Given the description of an element on the screen output the (x, y) to click on. 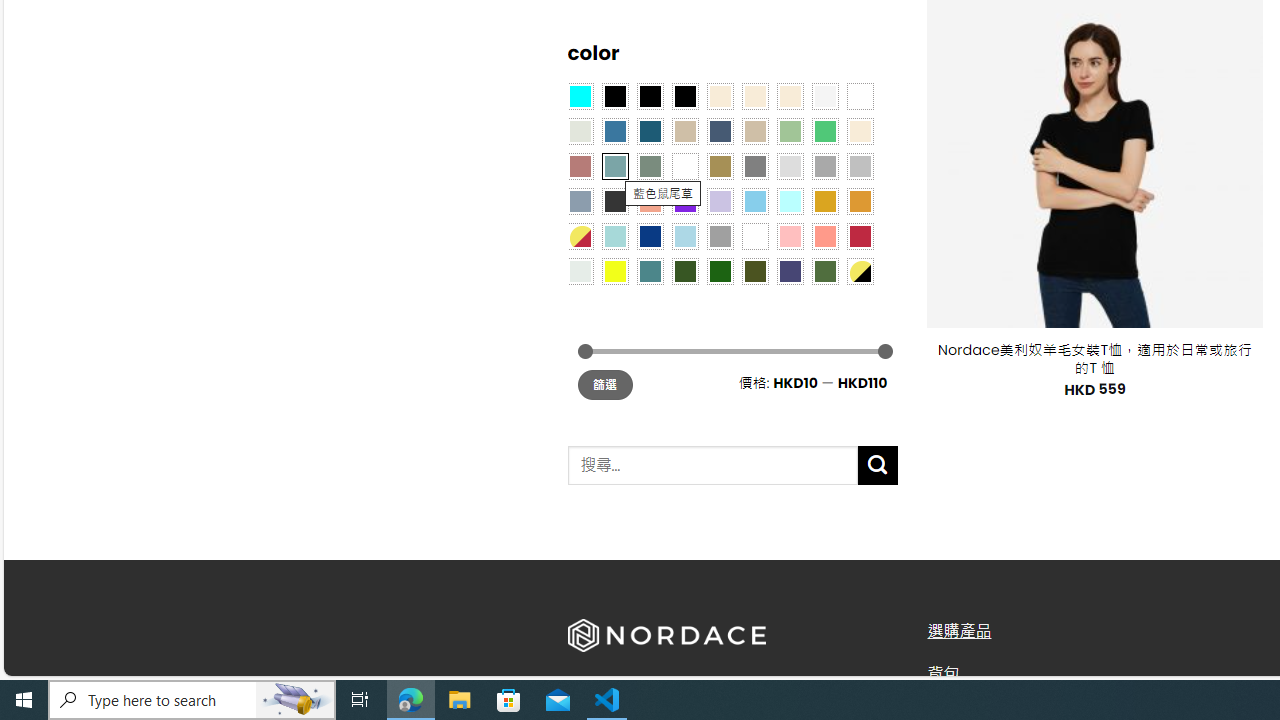
Dull Nickle (579, 270)
